Given the description of an element on the screen output the (x, y) to click on. 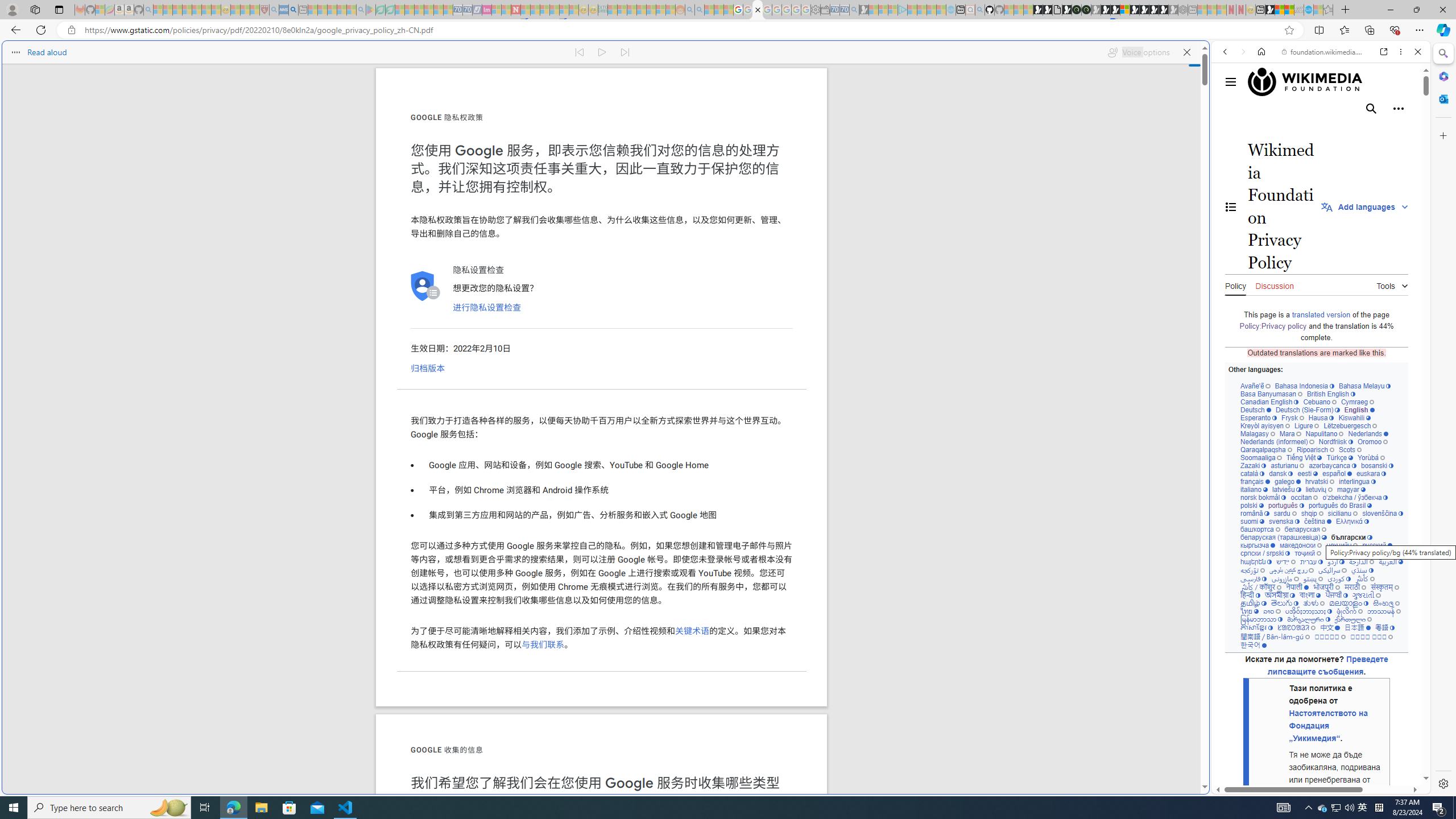
translated version (1321, 314)
